Given the description of an element on the screen output the (x, y) to click on. 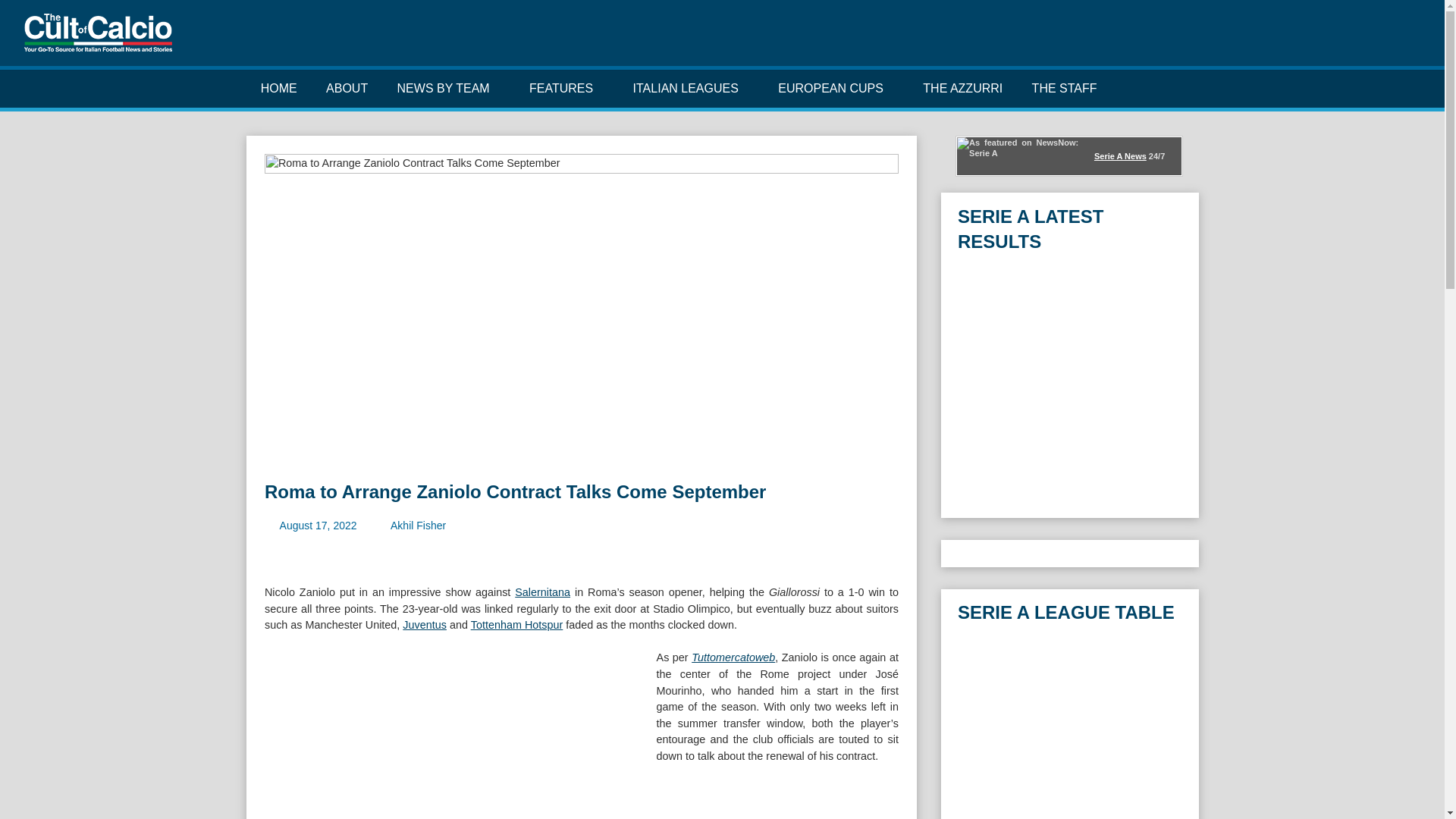
View all posts by Akhil Fisher (417, 525)
YouTube (1386, 39)
THE STAFF (1063, 88)
1:00 pm (317, 525)
Instagram (1363, 39)
Facebook (1315, 39)
FEATURES (566, 88)
HOME (278, 88)
Twitter (1339, 39)
